Given the description of an element on the screen output the (x, y) to click on. 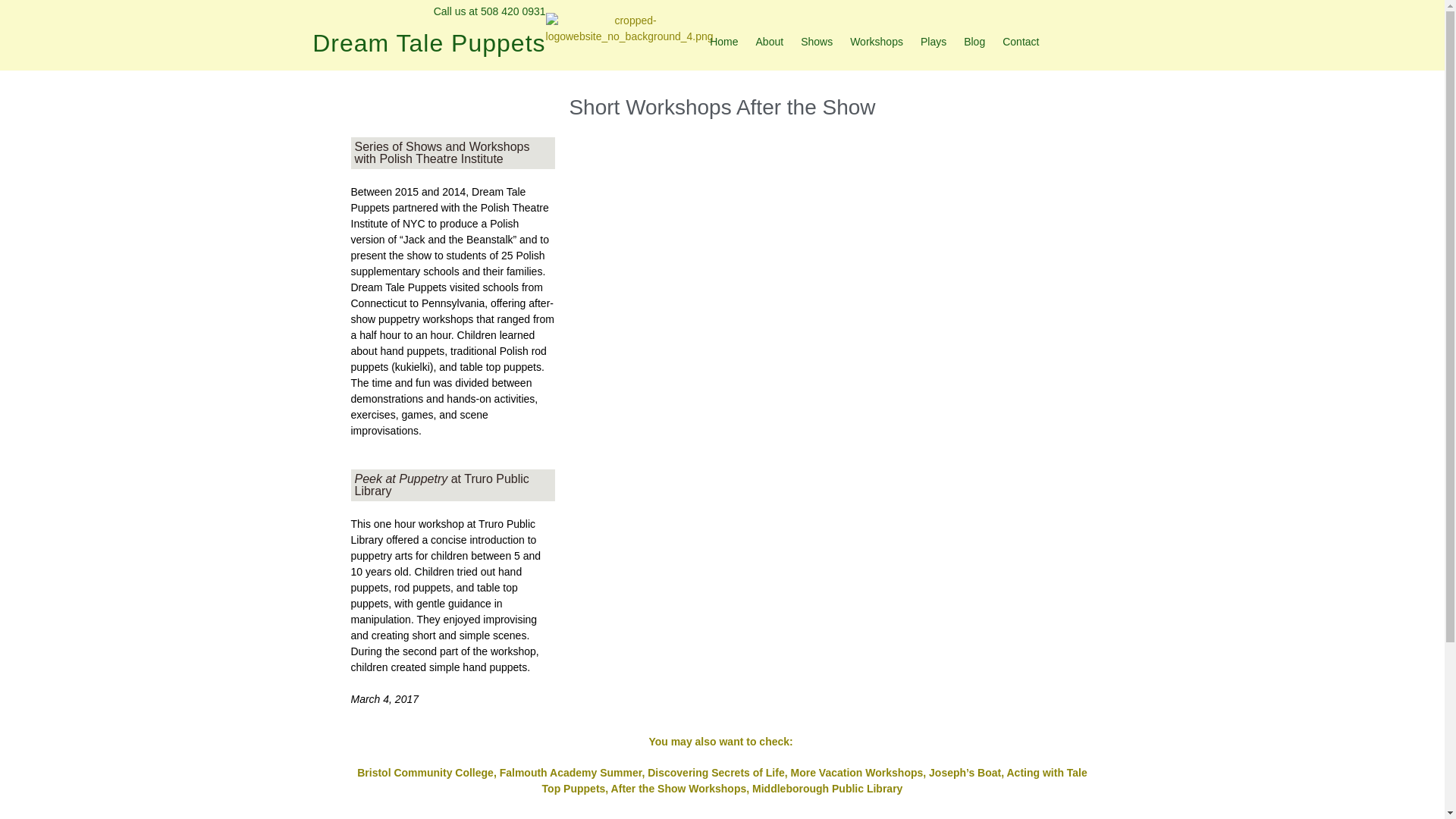
After the Show Workshops (678, 788)
Home (723, 41)
Acting with Tale Top Puppets (814, 780)
Workshops (877, 41)
Plays (932, 41)
Middleborough Public Library (827, 788)
More Vacation Workshops (856, 772)
Shows (816, 41)
Contact (1020, 41)
Falmouth Academy Summer (570, 772)
